Given the description of an element on the screen output the (x, y) to click on. 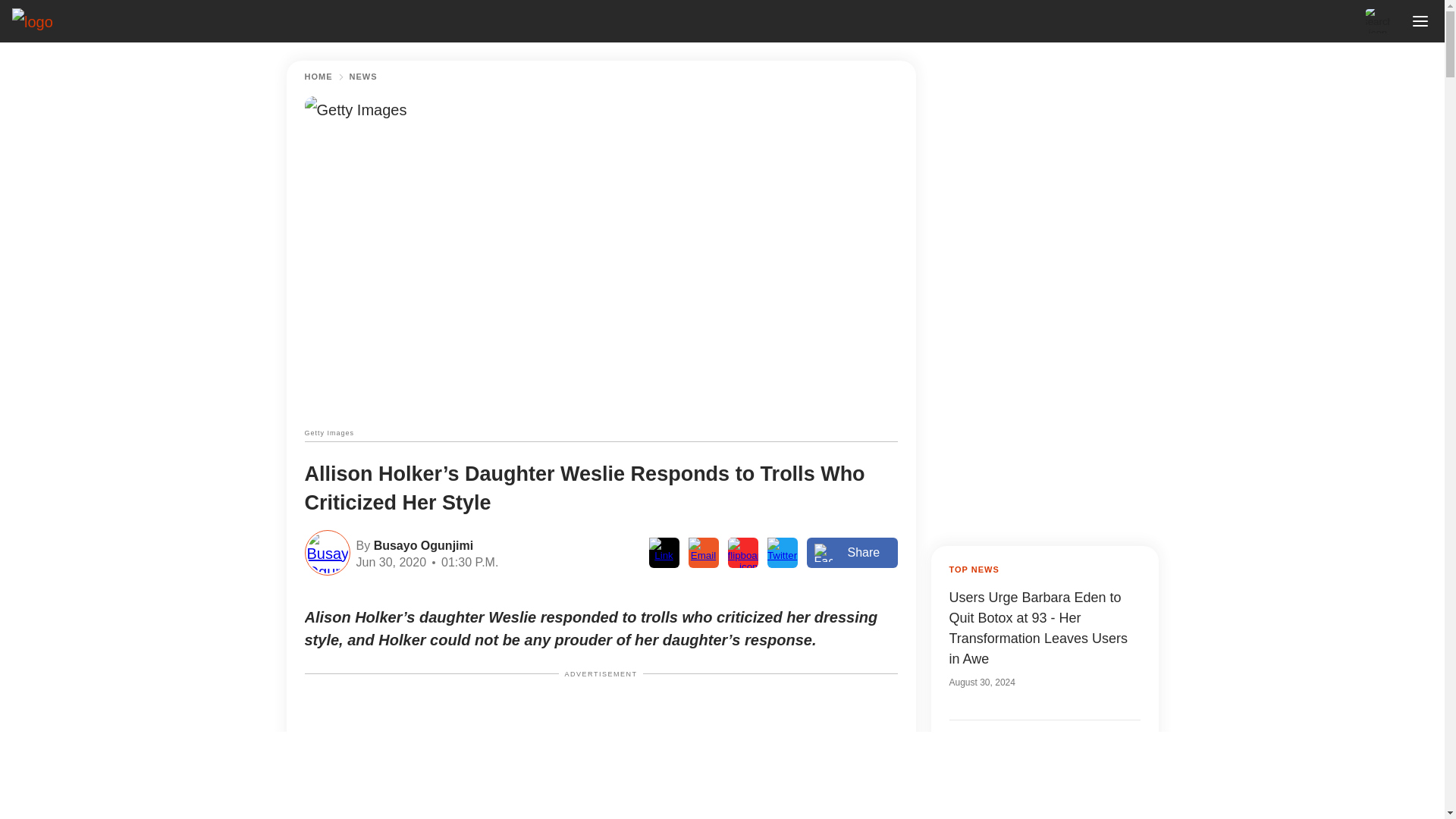
HOME (318, 76)
NEWS (363, 76)
Busayo Ogunjimi (421, 544)
